Given the description of an element on the screen output the (x, y) to click on. 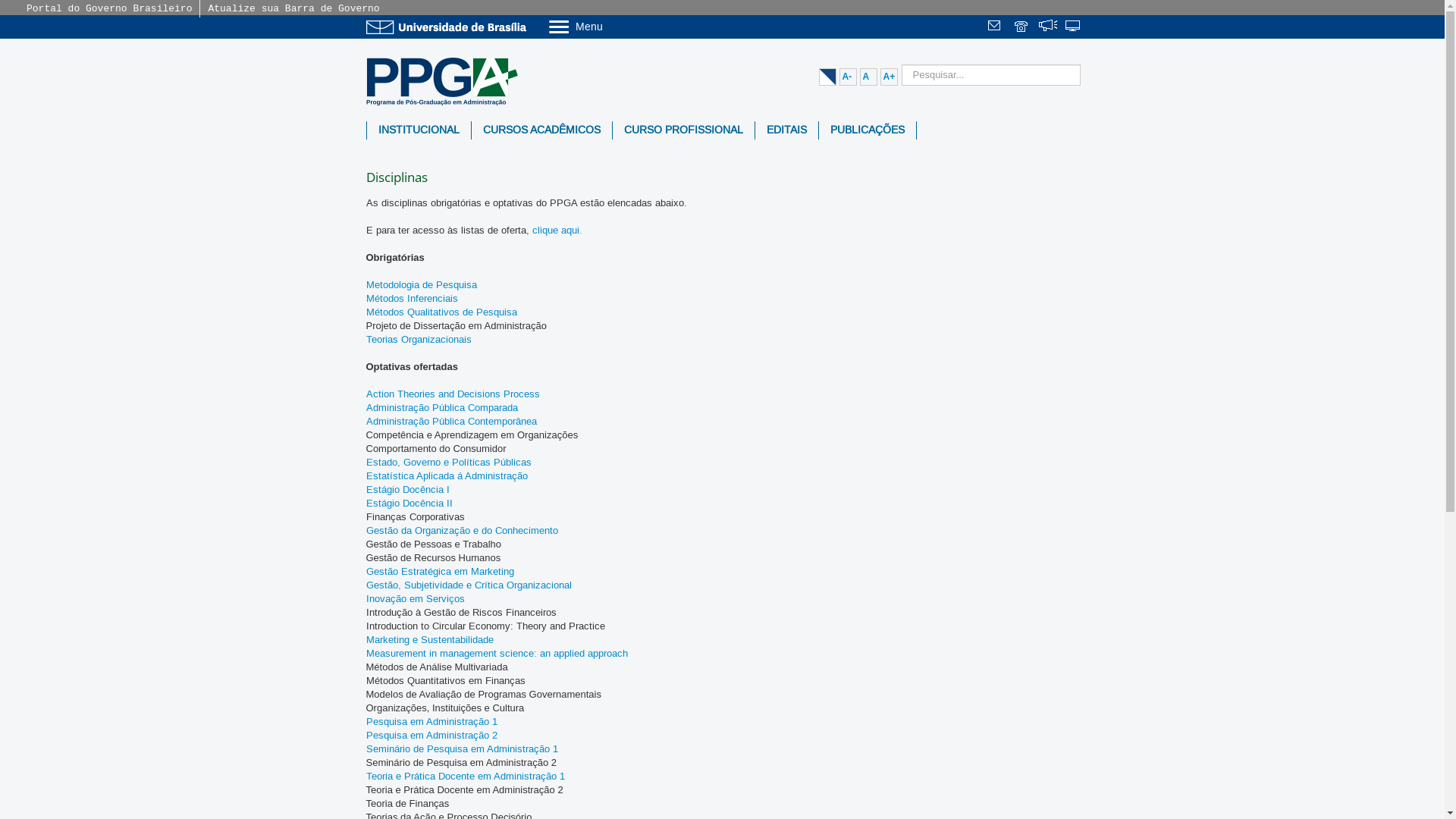
  Element type: text (996, 27)
Action Theories and Decisions Process Element type: text (452, 394)
Marketing e Sustentabilidade Element type: text (428, 639)
Teorias Organizacionais Element type: text (417, 339)
A Element type: text (868, 76)
  Element type: text (1073, 27)
  Element type: text (1047, 27)
Ir para o Portal da UnB Element type: hover (448, 26)
  Element type: text (1022, 27)
Metodologia de Pesquisa Element type: text (420, 285)
A+ Element type: text (888, 76)
Fala.BR Element type: hover (1047, 27)
Atualize sua Barra de Governo Element type: text (293, 8)
Measurement in management science: an applied approach Element type: text (496, 653)
Sistemas Element type: hover (1073, 27)
Telefones da UnB Element type: hover (1022, 27)
A- Element type: text (847, 76)
clique aqui. Element type: text (557, 230)
Webmail Element type: hover (996, 27)
Portal do Governo Brasileiro Element type: text (108, 8)
Menu Element type: text (613, 25)
